Given the description of an element on the screen output the (x, y) to click on. 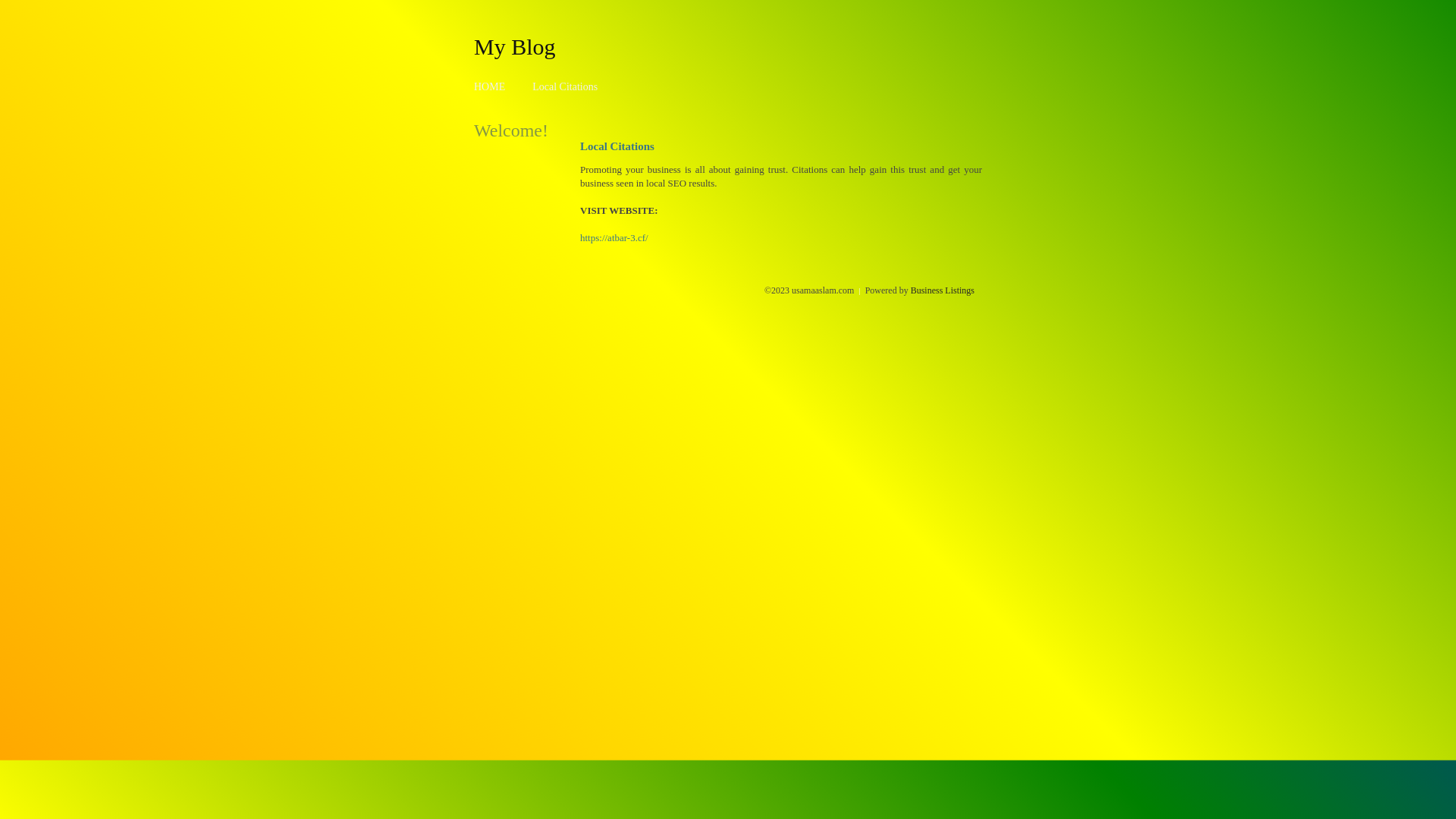
My Blog Element type: text (514, 46)
https://atbar-3.cf/ Element type: text (614, 237)
HOME Element type: text (489, 86)
Local Citations Element type: text (564, 86)
Business Listings Element type: text (942, 290)
